Given the description of an element on the screen output the (x, y) to click on. 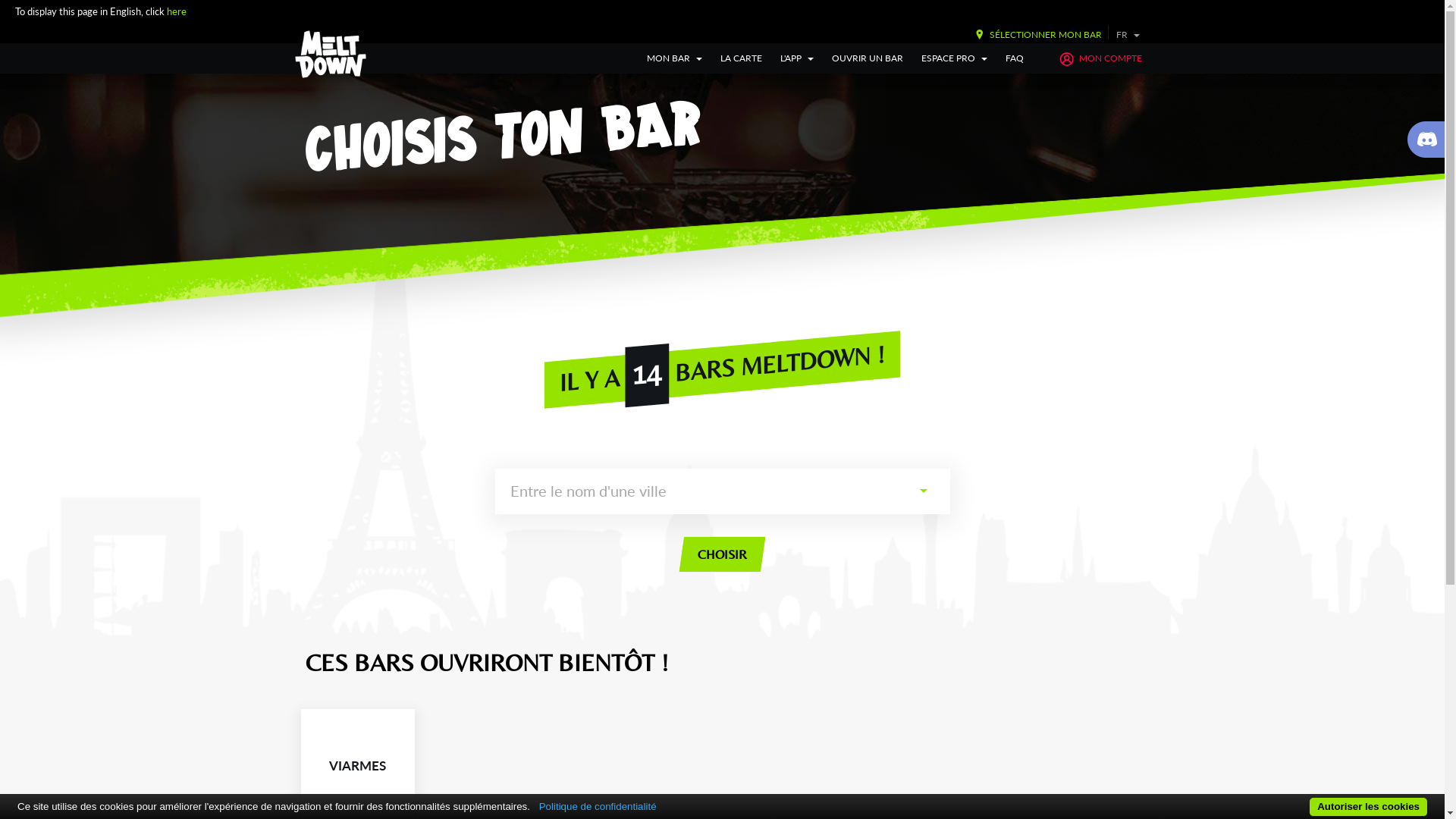
Autoriser les cookies Element type: text (1368, 806)
LA CARTE Element type: text (741, 58)
here Element type: text (176, 10)
MON BAR Element type: text (674, 58)
CHOISIR Element type: text (719, 553)
L'APP Element type: text (796, 58)
FAQ Element type: text (1014, 58)
FR Element type: text (1127, 34)
MON COMPTE Element type: text (1099, 58)
ESPACE PRO Element type: text (954, 58)
MELTDOWN Element type: text (330, 54)
OUVRIR UN BAR Element type: text (867, 58)
